Given the description of an element on the screen output the (x, y) to click on. 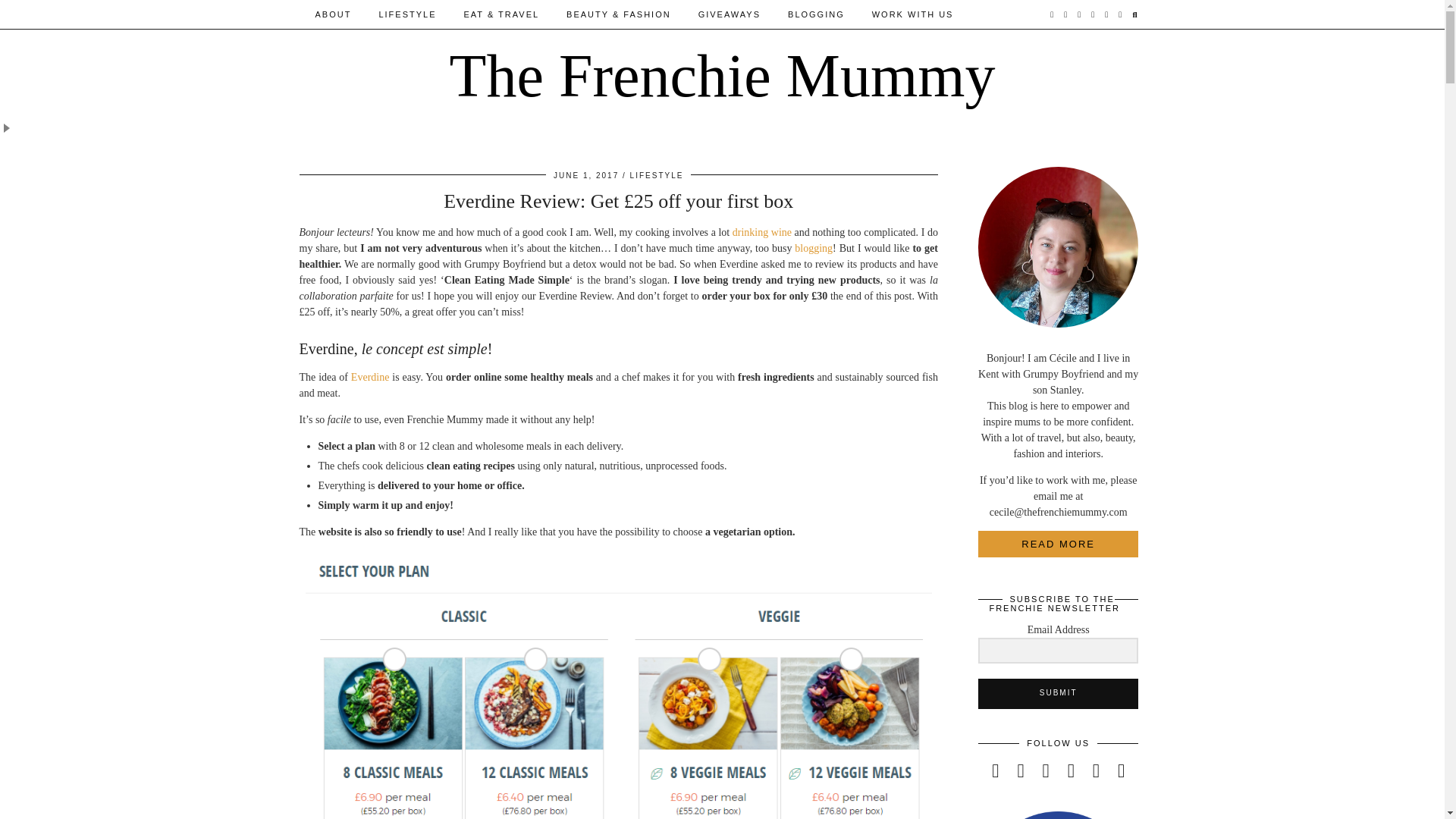
GIVEAWAYS (729, 14)
BLOGGING (816, 14)
drinking wine (762, 232)
WORK WITH US (913, 14)
The Frenchie Mummy (722, 75)
LIFESTYLE (407, 14)
ABOUT (333, 14)
LIFESTYLE (657, 175)
The Frenchie Mummy (722, 75)
